Given the description of an element on the screen output the (x, y) to click on. 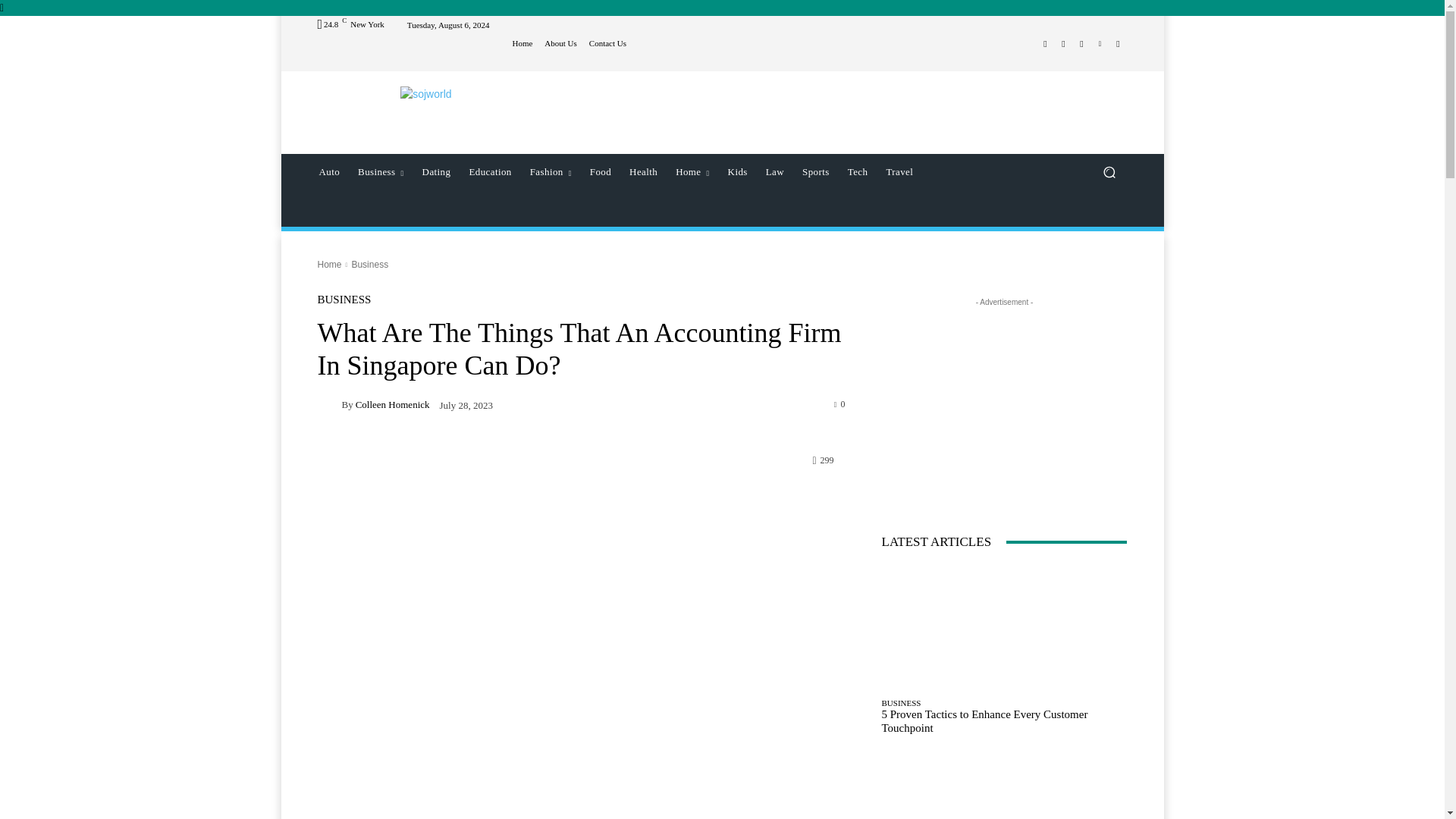
View all posts in Business (369, 264)
Home (522, 43)
sojworld.com (425, 94)
Health (643, 171)
sojworld.com (425, 94)
Instagram (1062, 44)
Contact Us (607, 43)
Twitter (1080, 44)
Food (600, 171)
Business (381, 171)
Dating (436, 171)
About Us (560, 43)
Youtube (1117, 44)
Vimeo (1099, 44)
Auto (328, 171)
